Given the description of an element on the screen output the (x, y) to click on. 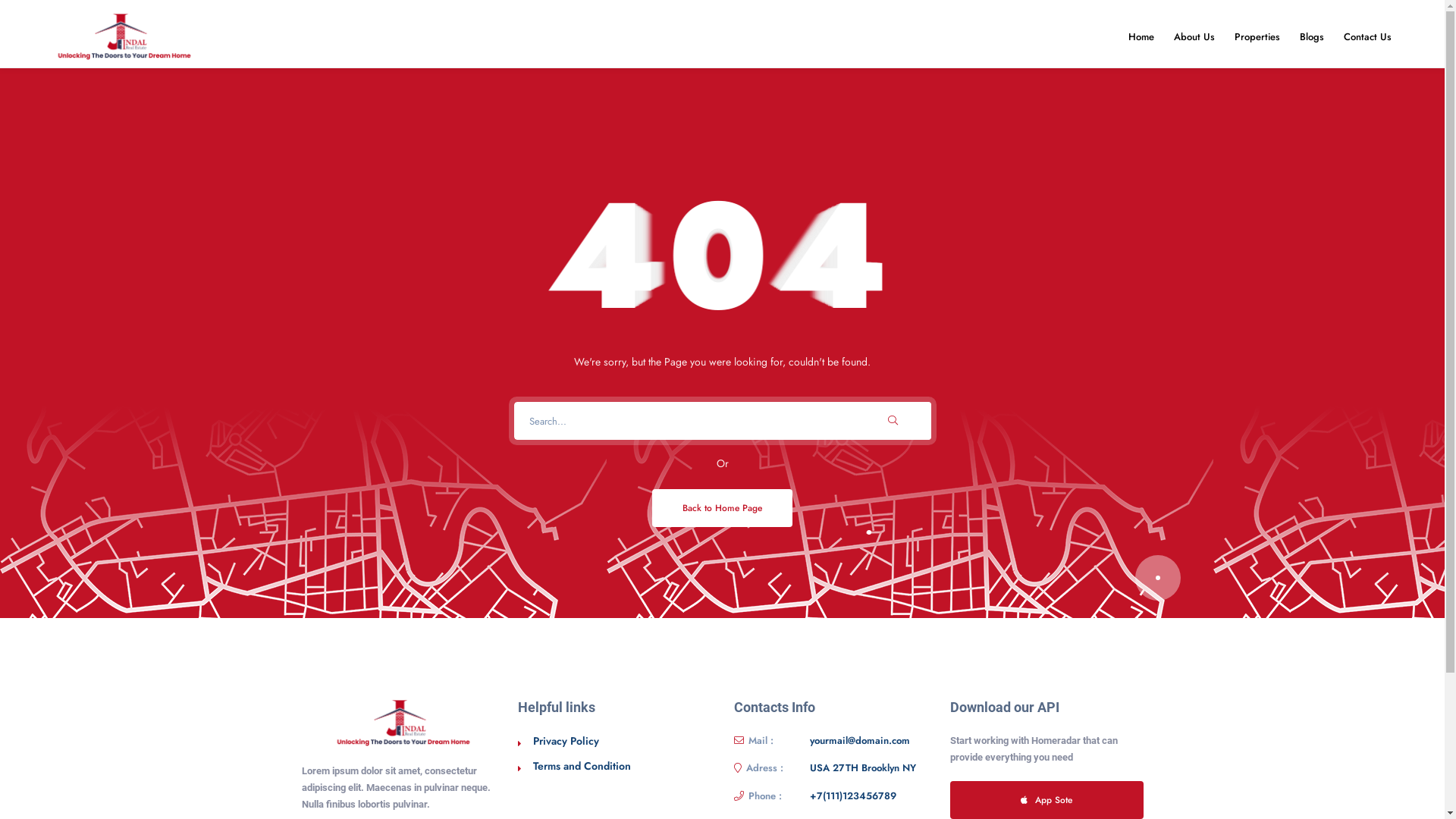
+7(111)123456789 Element type: text (852, 795)
Contact Us Element type: text (1367, 36)
yourmail@domain.com Element type: text (859, 740)
Terms and Condition Element type: text (581, 765)
Home Element type: text (1140, 36)
Privacy Policy Element type: text (565, 740)
Back to Home Page Element type: text (722, 508)
Blogs Element type: text (1311, 36)
Properties Element type: text (1256, 36)
About Us Element type: text (1194, 36)
USA 27TH Brooklyn NY Element type: text (862, 767)
